Given the description of an element on the screen output the (x, y) to click on. 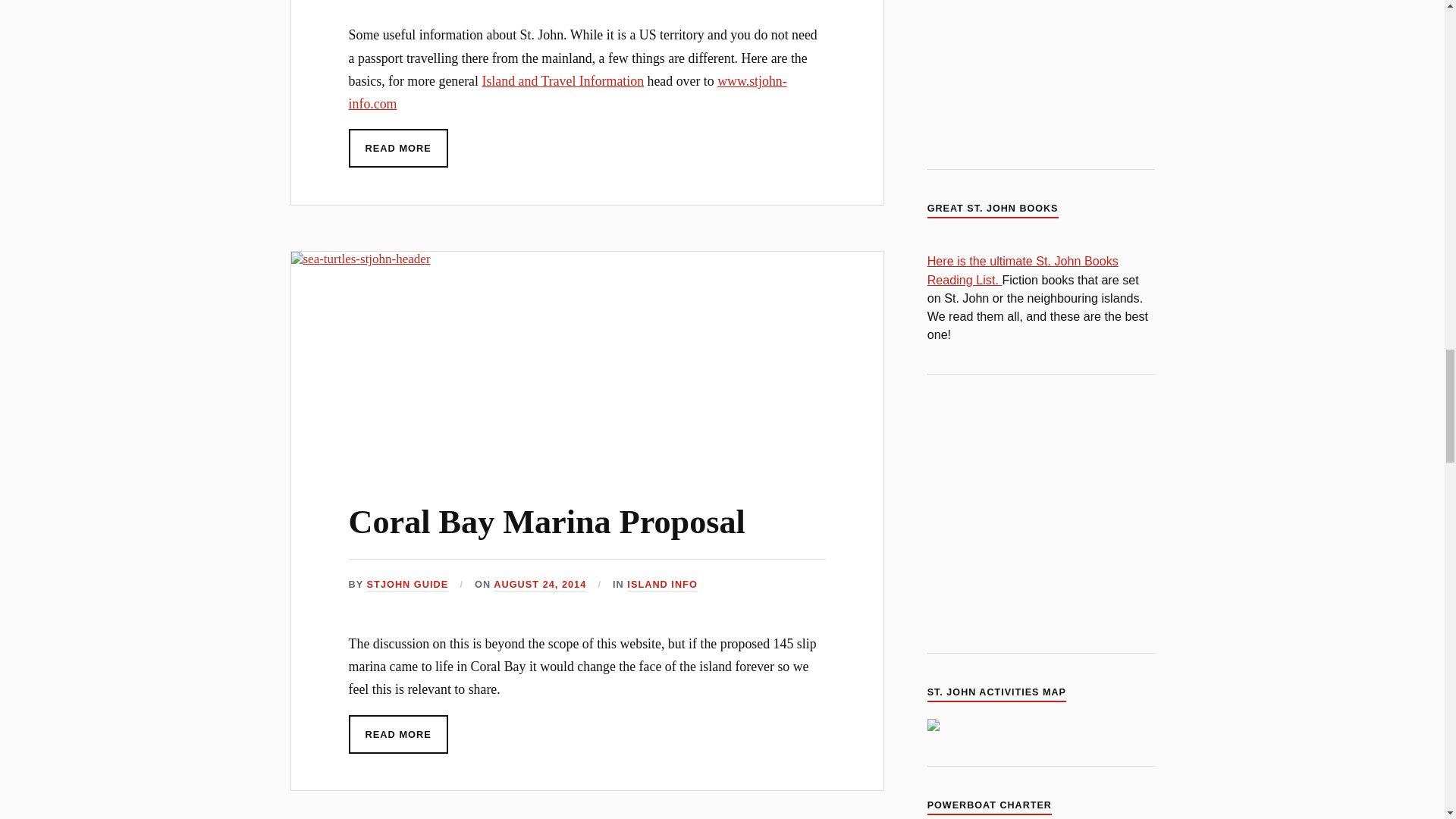
Posts by stjohn guide (407, 584)
